Given the description of an element on the screen output the (x, y) to click on. 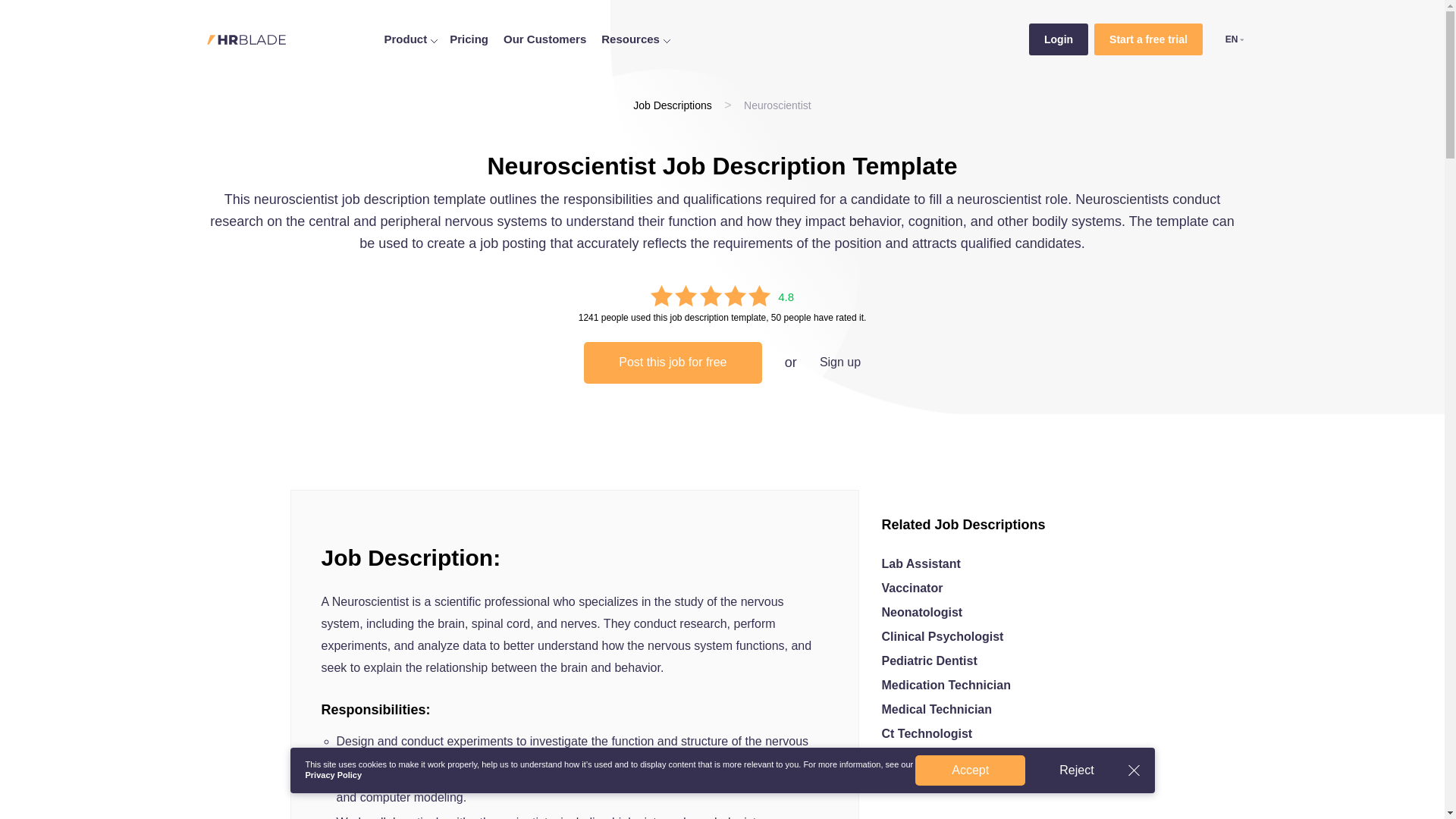
Video Interview Software HRBLADE (245, 40)
Job Descriptions (672, 105)
Login (1058, 39)
Post this job for free (672, 363)
Resources (636, 39)
Start a free trial (1148, 39)
Product (411, 39)
Our Customers (544, 39)
